Given the description of an element on the screen output the (x, y) to click on. 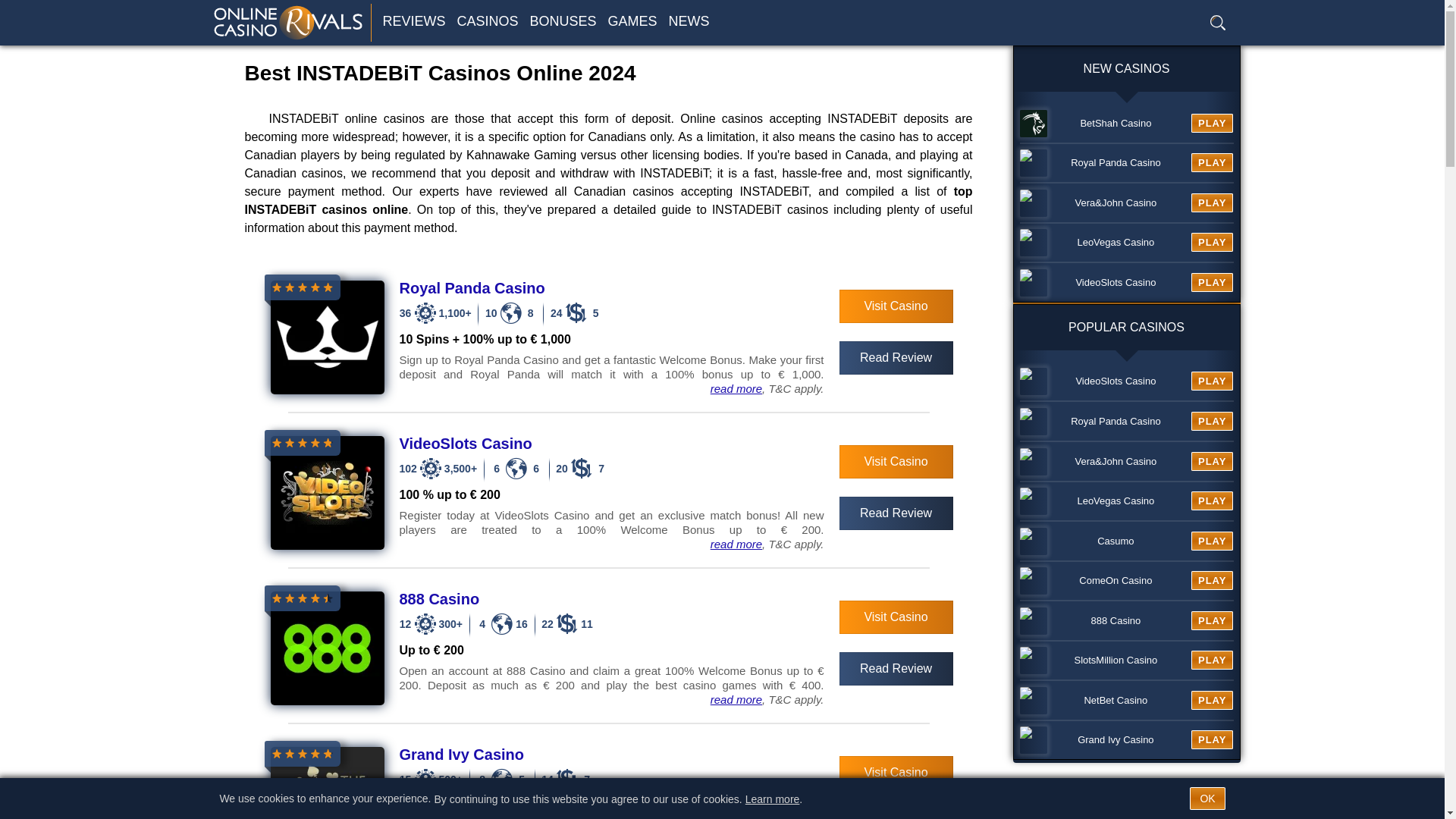
NEWS (684, 21)
CASINOS (481, 21)
BONUSES (557, 21)
GAMES (627, 21)
REVIEWS (408, 21)
